Given the description of an element on the screen output the (x, y) to click on. 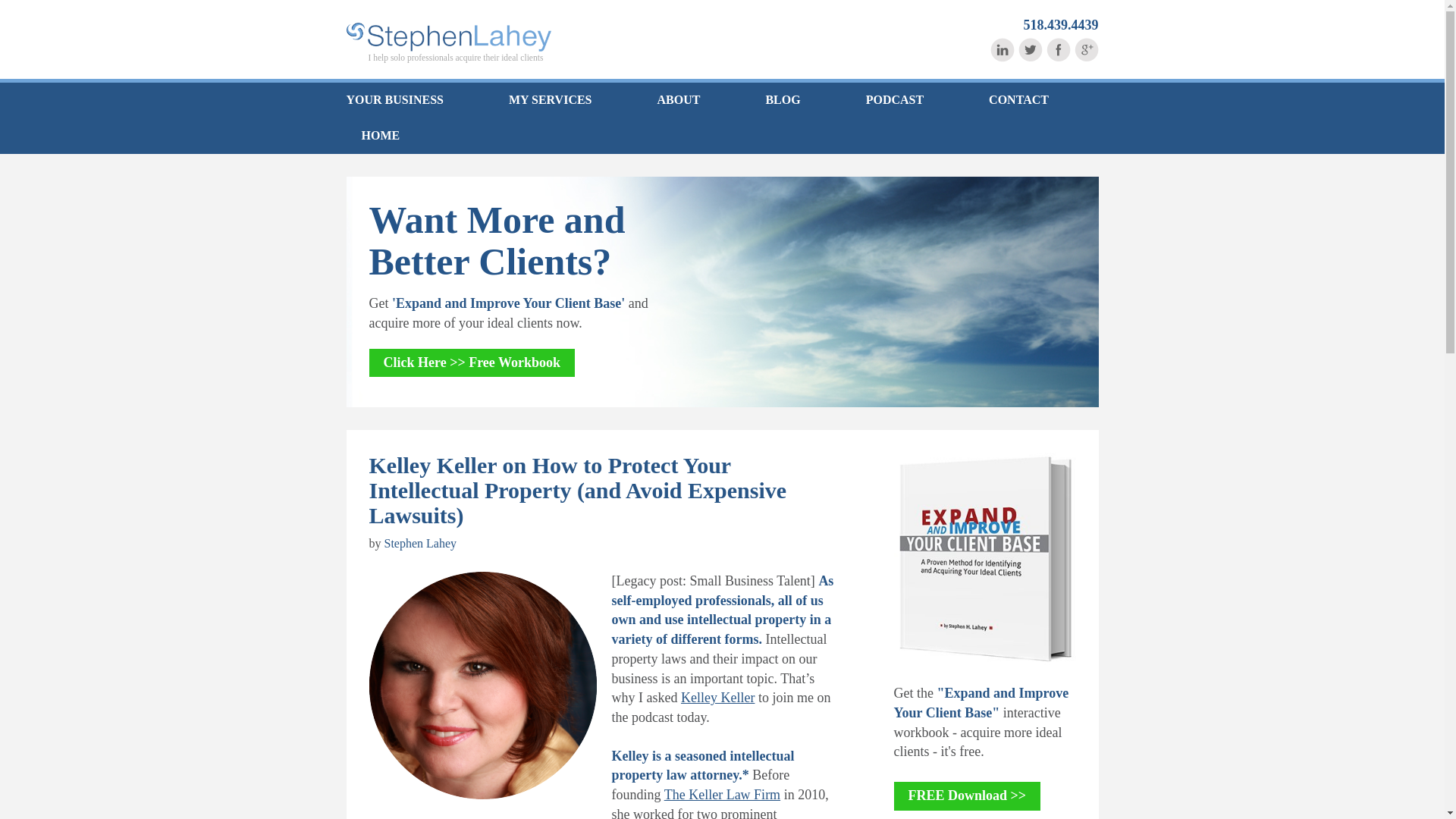
BLOG (782, 99)
MY SERVICES (550, 99)
PODCAST (894, 99)
ABOUT (679, 99)
Stephen Lahey (420, 543)
About Kelley Keller (717, 697)
CONTACT (1019, 99)
The Keller Law Firm (721, 794)
Smart Solo Business (448, 36)
Kelley Keller (717, 697)
